Given the description of an element on the screen output the (x, y) to click on. 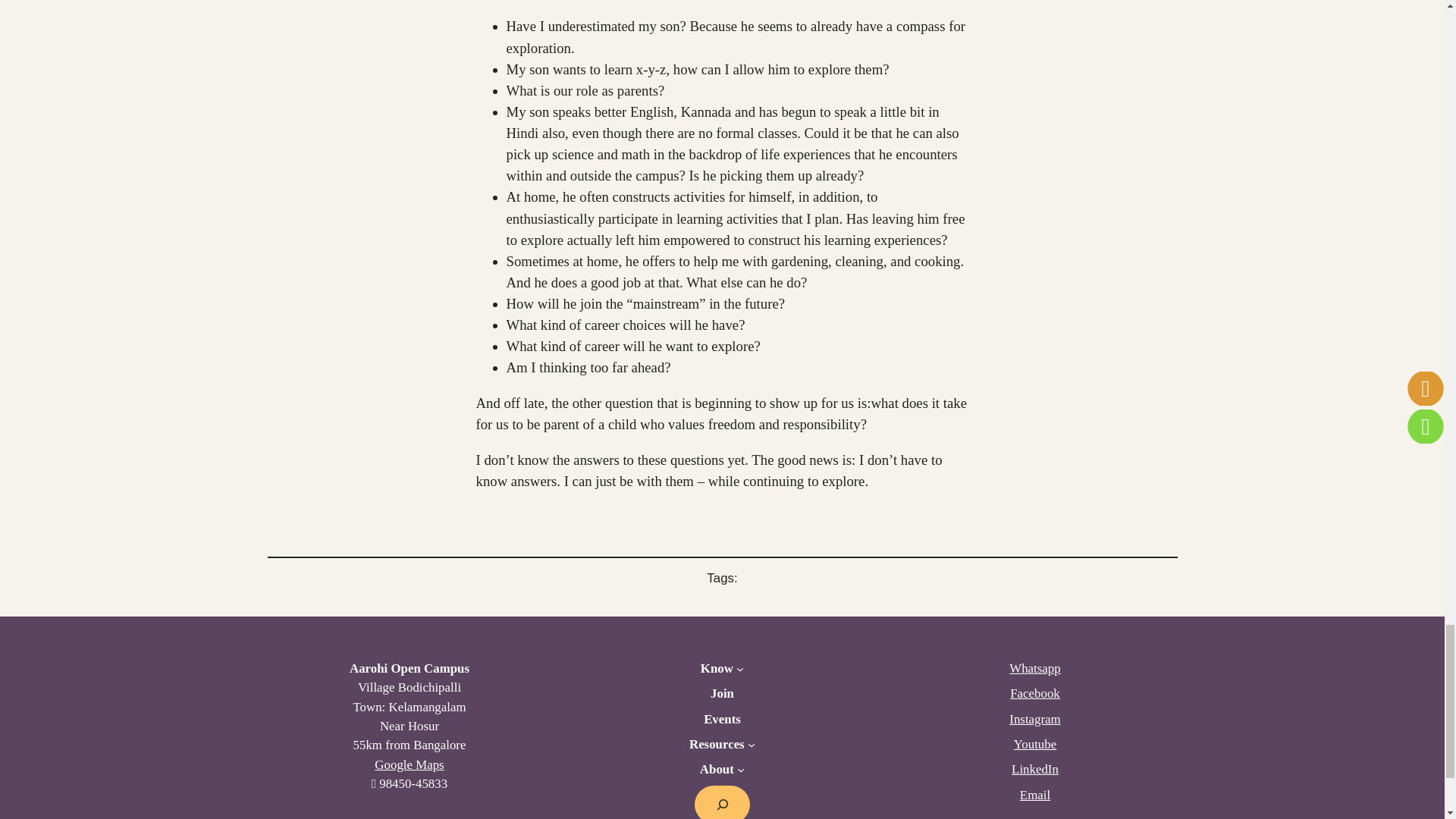
Join (721, 692)
Know (716, 668)
Events (722, 719)
Google Maps (409, 764)
Resources (716, 743)
